Given the description of an element on the screen output the (x, y) to click on. 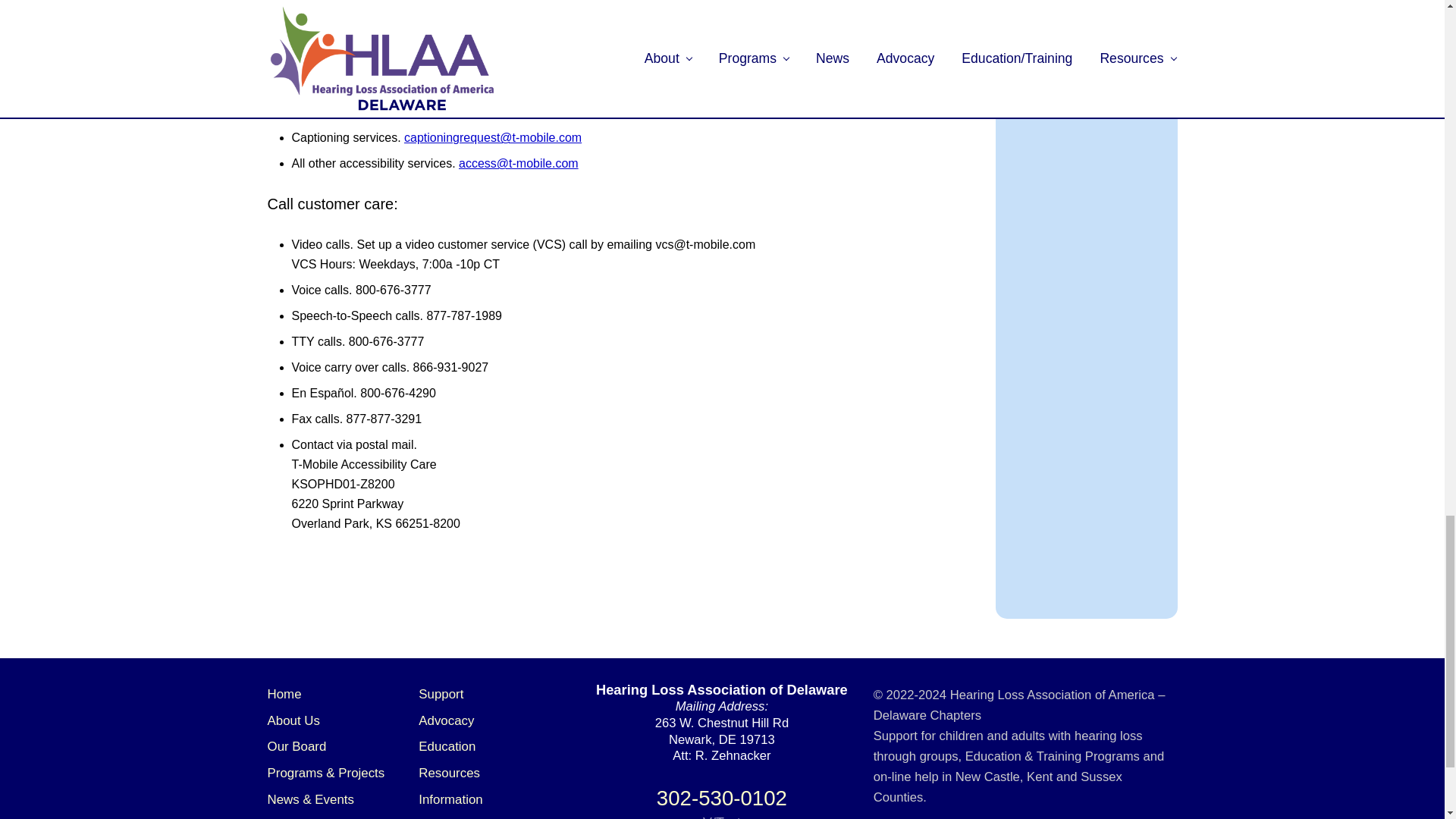
Hearing Loss Basics and Information (450, 799)
Support (441, 694)
Links to Important Resources (449, 772)
About Us (292, 720)
Education (447, 746)
Advocacy (446, 720)
